Given the description of an element on the screen output the (x, y) to click on. 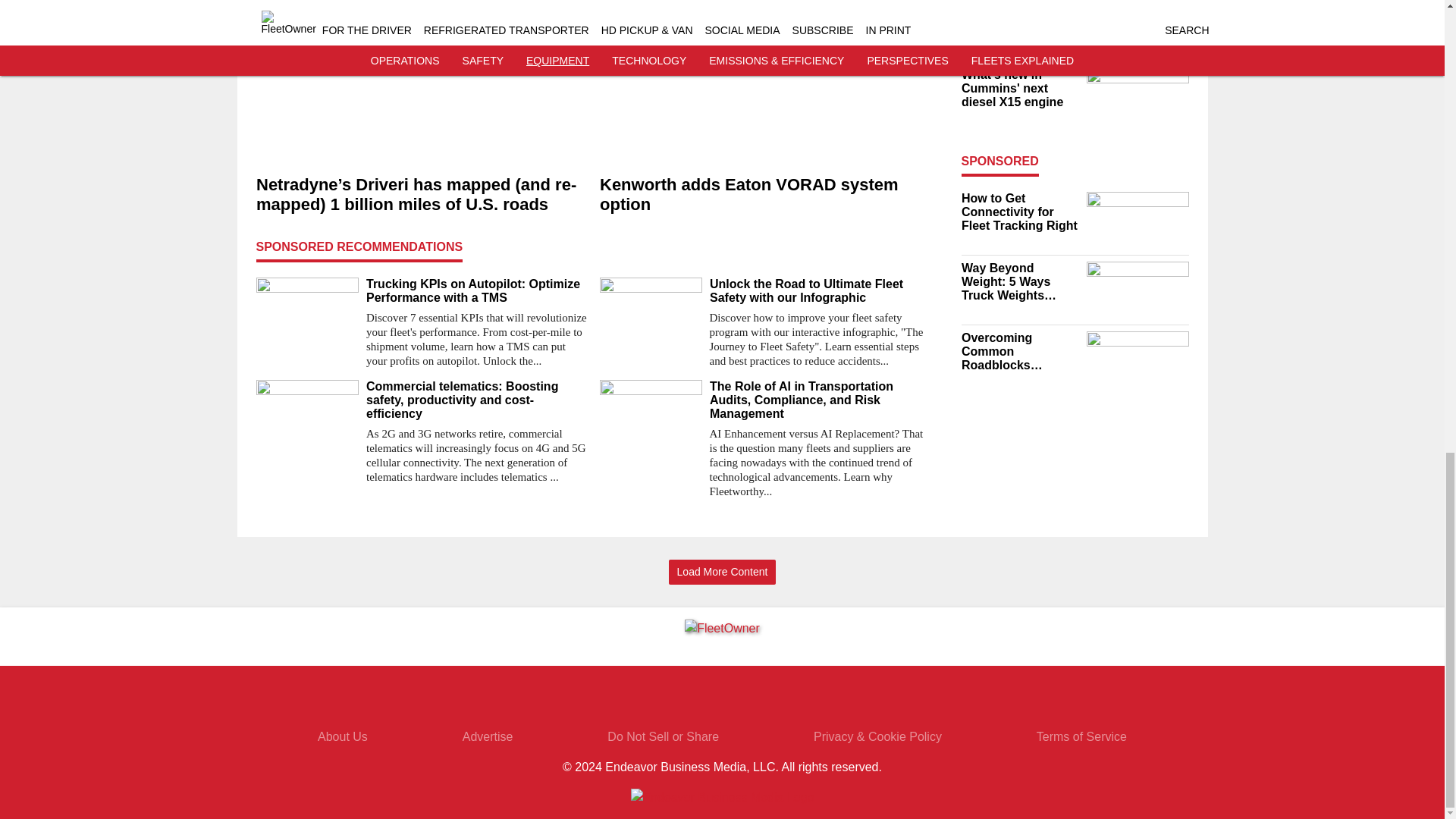
Kenworth adds Eaton VORAD system option (764, 194)
Trucking KPIs on Autopilot: Optimize Performance with a TMS (476, 290)
